Given the description of an element on the screen output the (x, y) to click on. 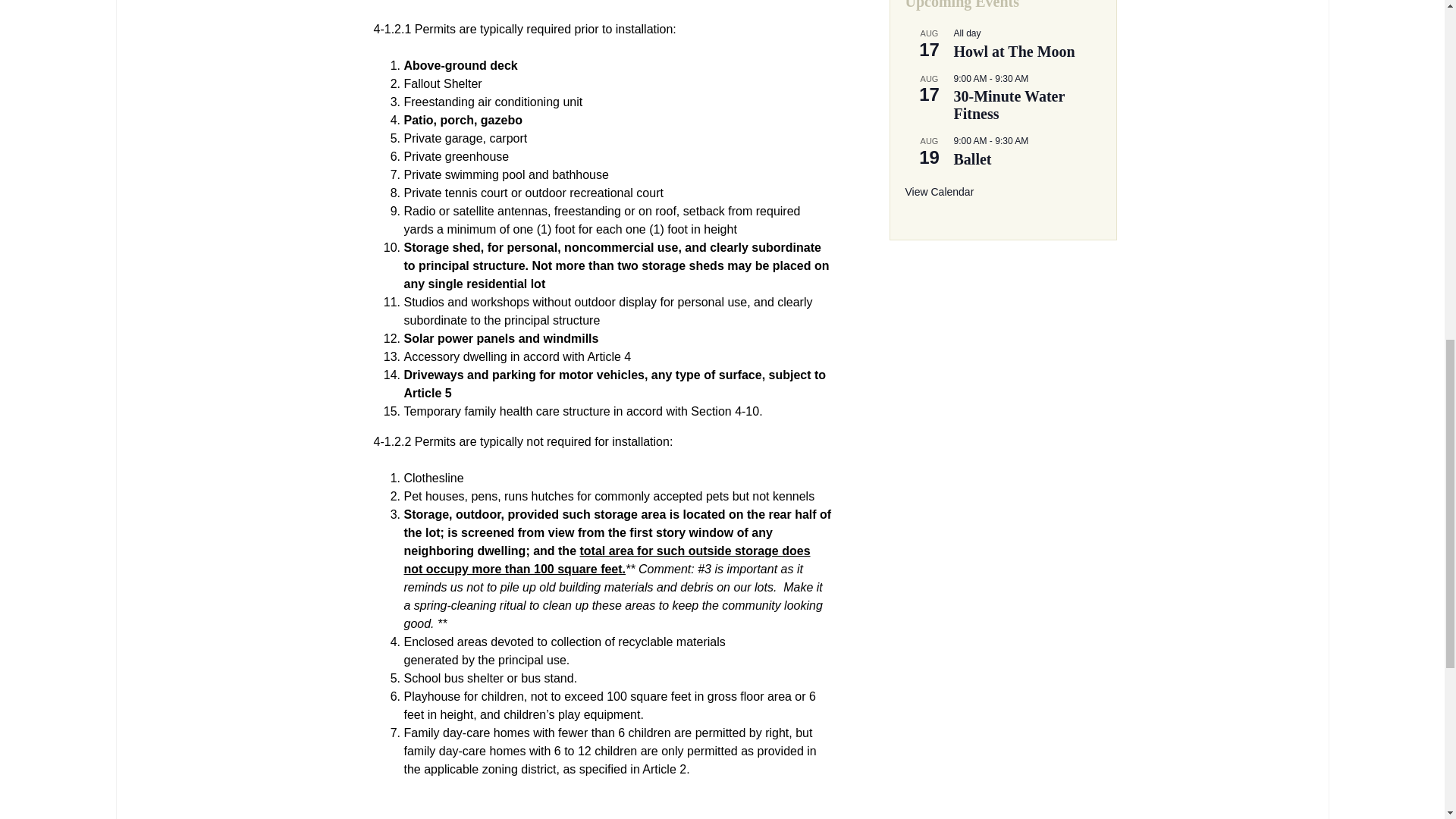
Howl at The Moon (1014, 51)
30-Minute Water Fitness (1009, 104)
Ballet (972, 159)
View more events. (939, 192)
